Given the description of an element on the screen output the (x, y) to click on. 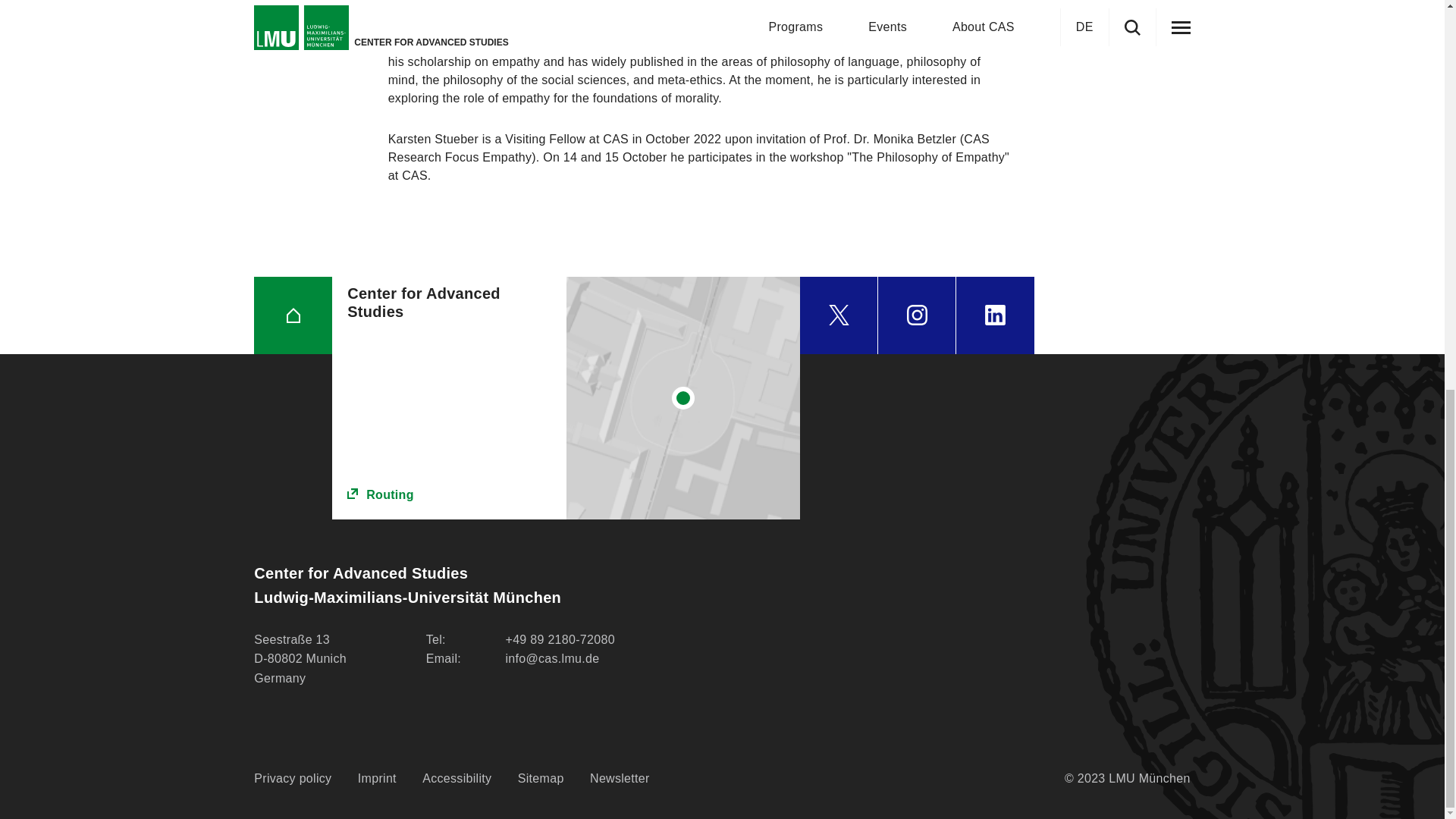
Twitter-Link opens in a new window (838, 315)
Twitter (838, 315)
LinkedIn (994, 315)
Routing (449, 495)
Plan section LMU main building (683, 397)
Instagram-Link opens in a new window (916, 315)
Accessibility (457, 778)
LinkedIn-Link opens in a new window (994, 315)
Sitemap (541, 778)
Instagram (916, 315)
Newsletter (619, 778)
Home (292, 315)
Privacy policy (292, 778)
Imprint (377, 778)
